Given the description of an element on the screen output the (x, y) to click on. 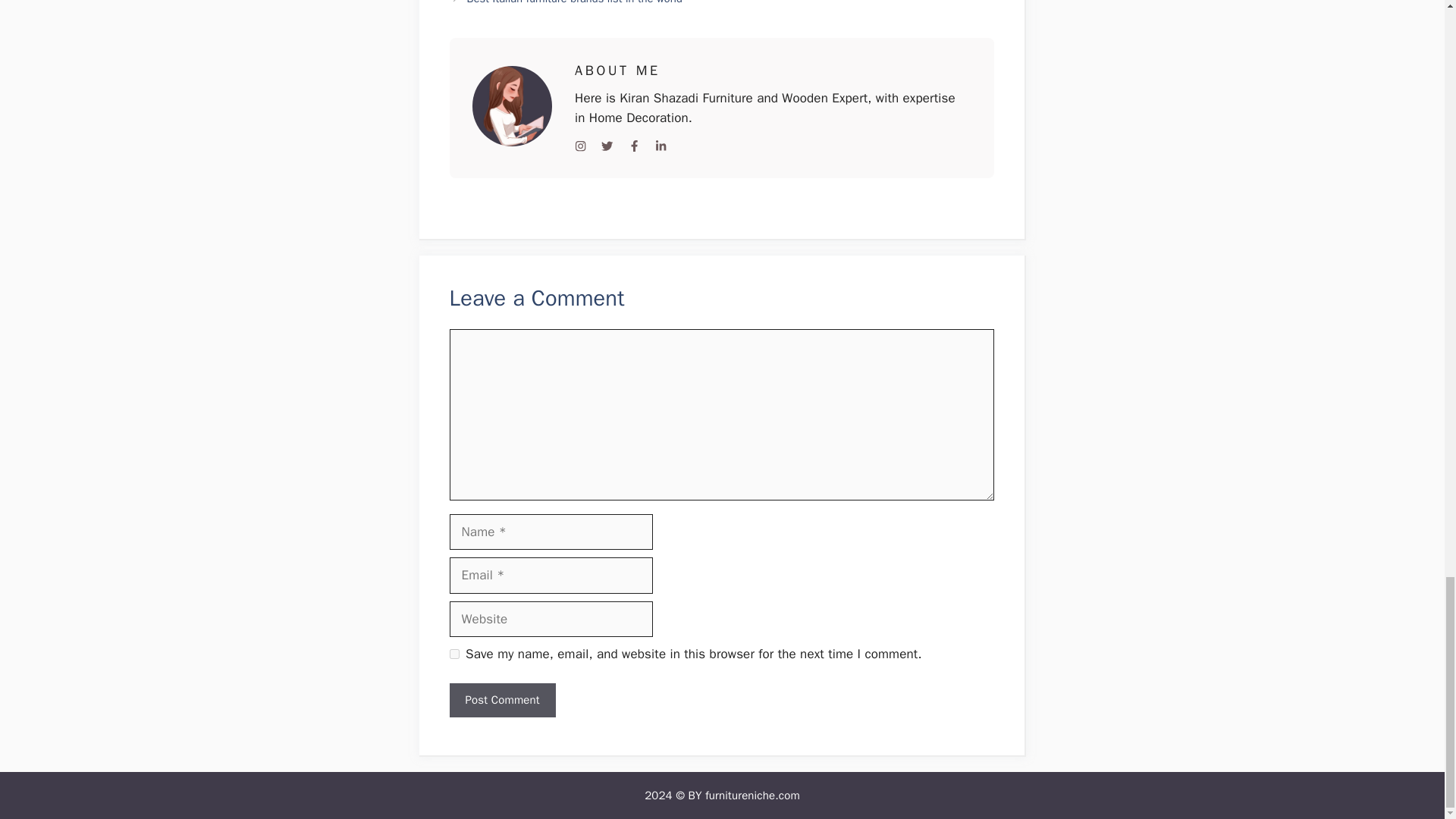
yes (453, 654)
Post Comment (501, 700)
Best Italian furniture brands list in the world (574, 2)
Post Comment (501, 700)
